Given the description of an element on the screen output the (x, y) to click on. 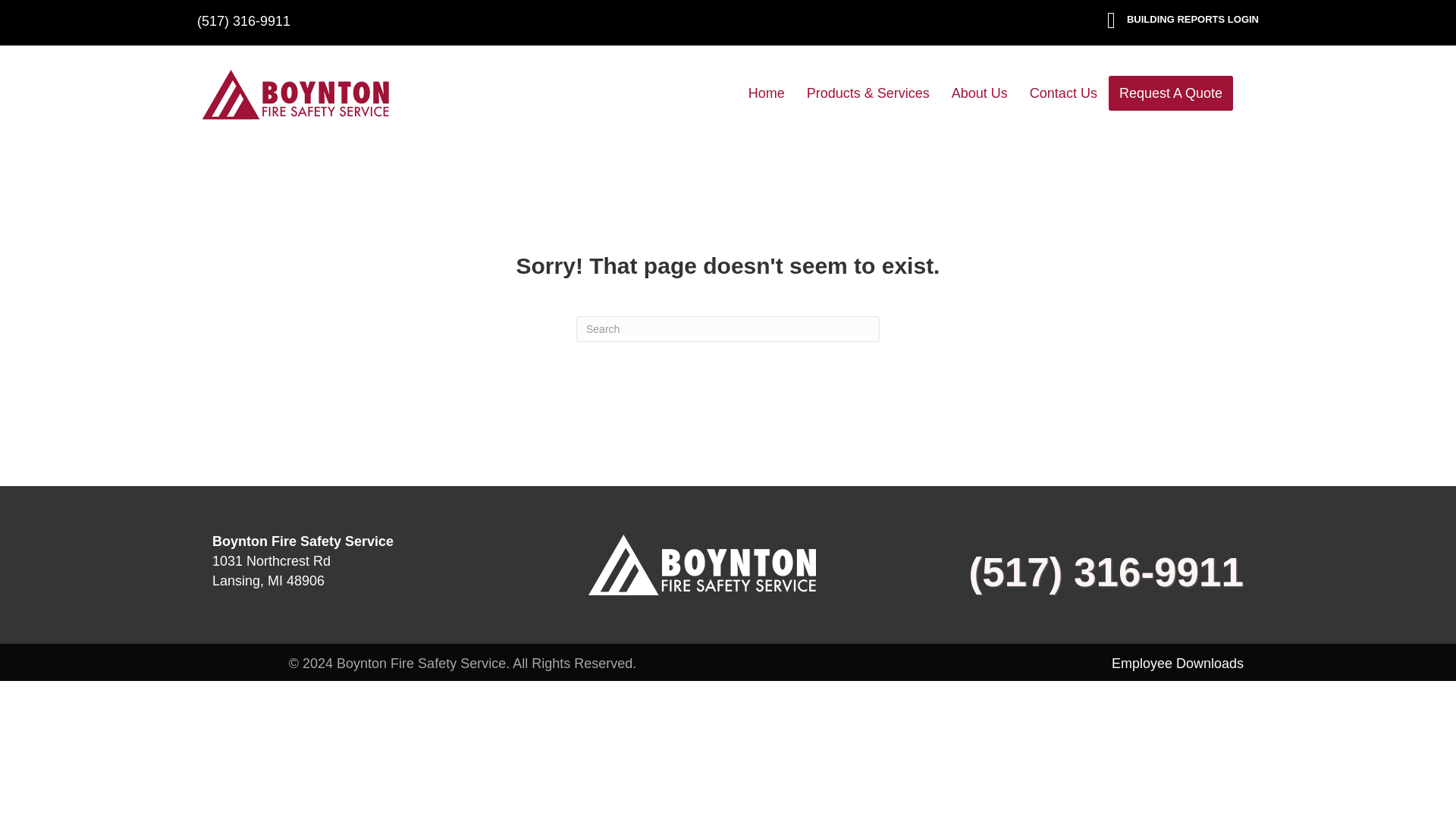
Request A Quote (1170, 93)
BUILDING REPORTS LOGIN (1192, 20)
Type and press Enter to search. (727, 329)
Home (766, 93)
Employee Downloads (1177, 663)
Boynton Fire Safety Logo White (701, 564)
Contact Us (1063, 93)
boynton-logo-final (295, 94)
About Us (978, 93)
